Given the description of an element on the screen output the (x, y) to click on. 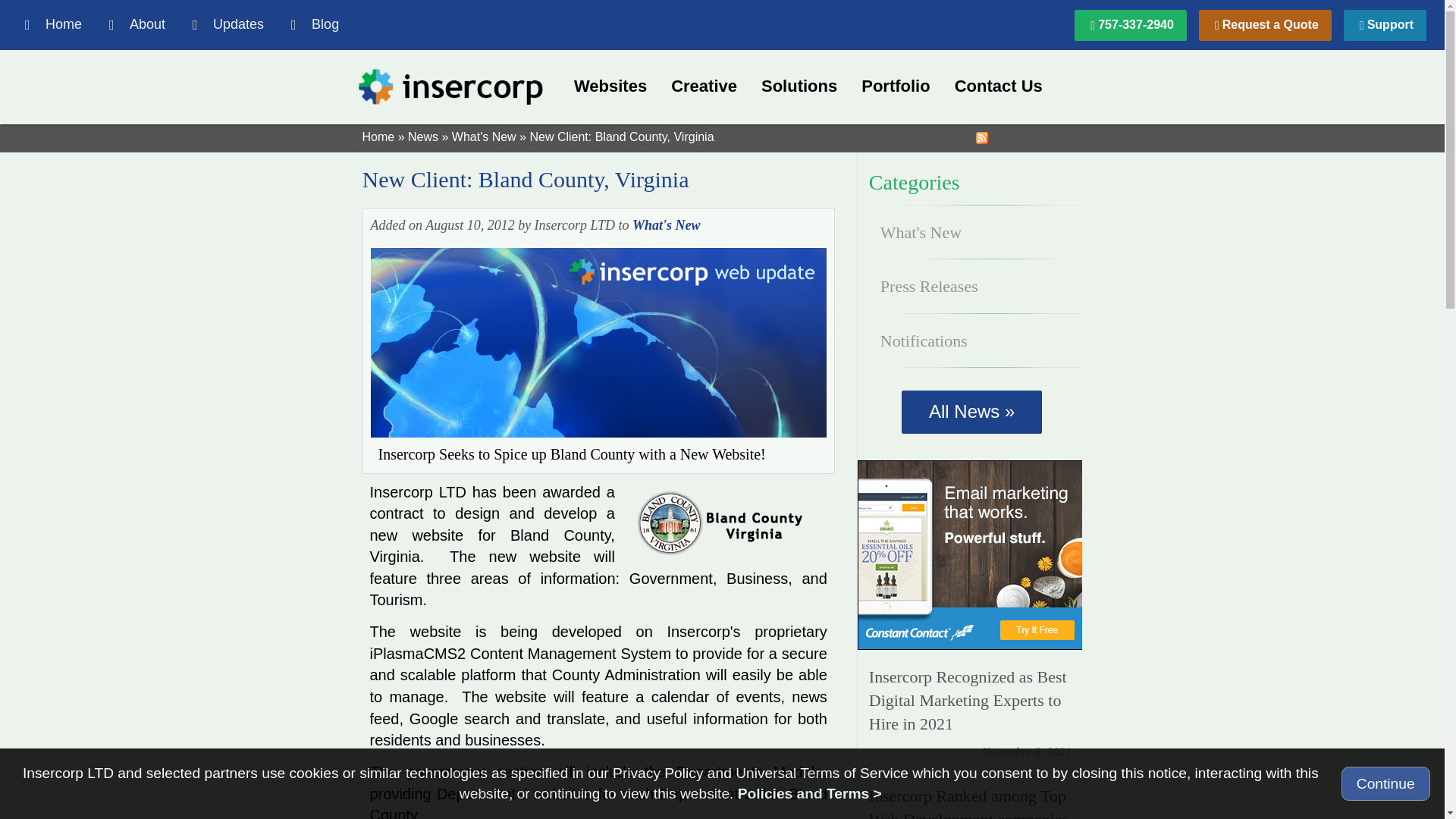
Continue (1384, 783)
About (137, 24)
Home (53, 24)
About (137, 24)
Home (182, 24)
